Given the description of an element on the screen output the (x, y) to click on. 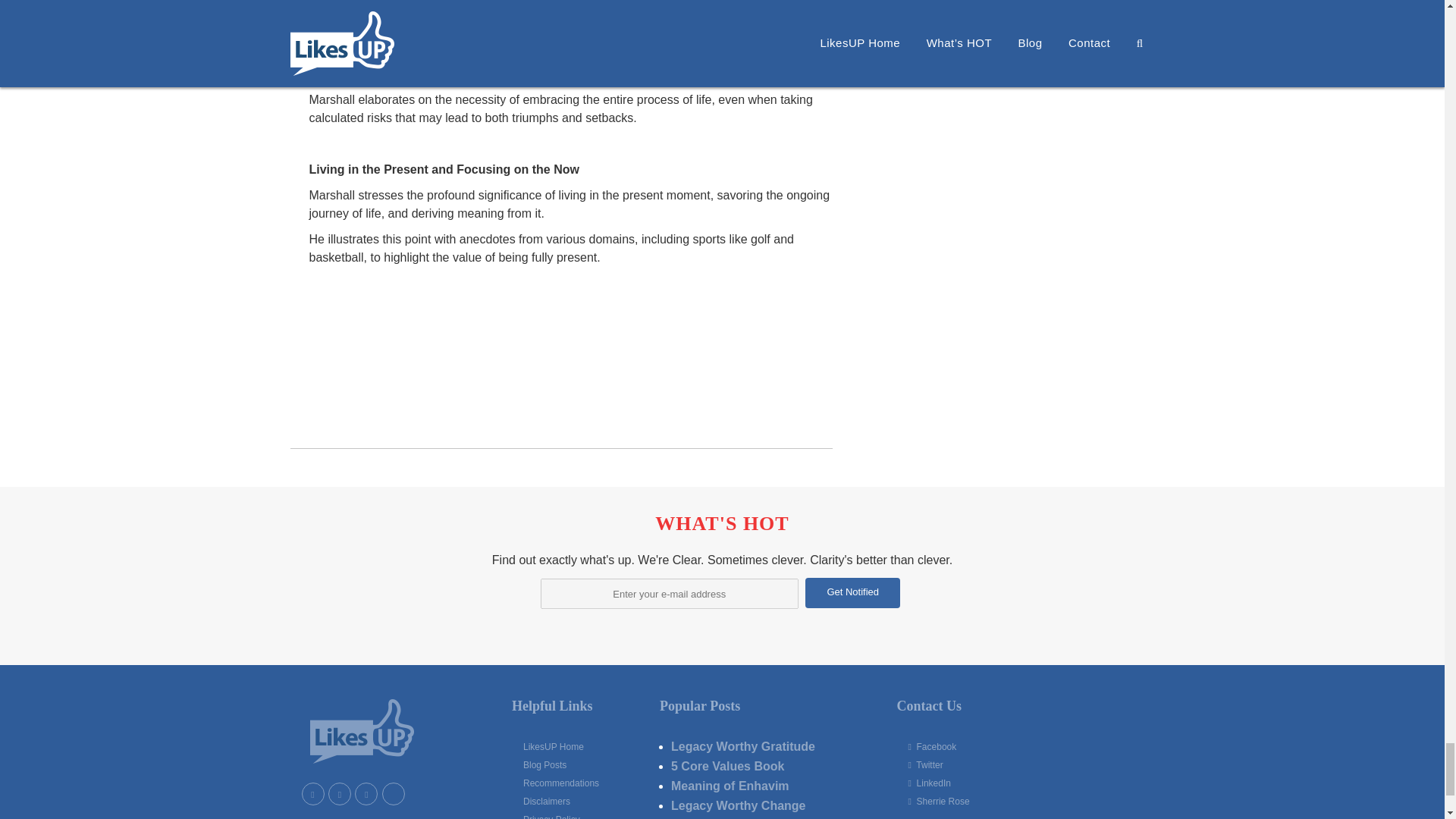
LikesUP Home (579, 746)
Recommendations (579, 782)
Blog Posts (579, 764)
Legacy Worthy Change (738, 805)
5 Core Values Book (727, 766)
Get Notified (852, 593)
Disclaimers (579, 800)
Get Notified (852, 593)
Meaning of Enhavim (730, 785)
Legacy Worthy Gratitude (743, 746)
